Given the description of an element on the screen output the (x, y) to click on. 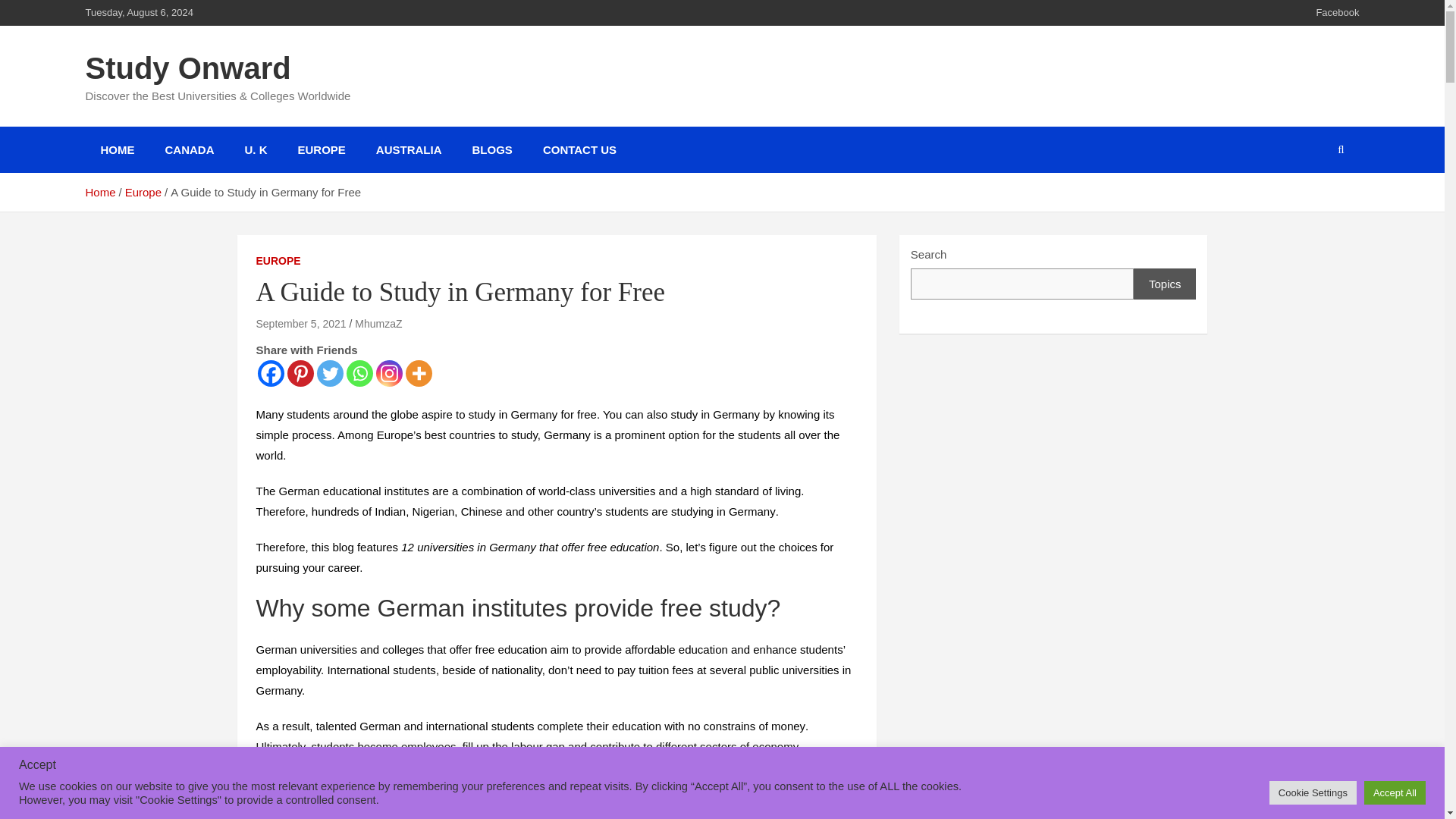
Twitter (330, 373)
Instagram (389, 373)
More (417, 373)
Europe (143, 192)
U. K (255, 149)
MhumzaZ (378, 323)
Home (99, 192)
A Guide to Study in Germany for Free (301, 323)
September 5, 2021 (301, 323)
Pinterest (299, 373)
Facebook (1337, 12)
BLOGS (492, 149)
EUROPE (278, 261)
AUSTRALIA (409, 149)
HOME (116, 149)
